Given the description of an element on the screen output the (x, y) to click on. 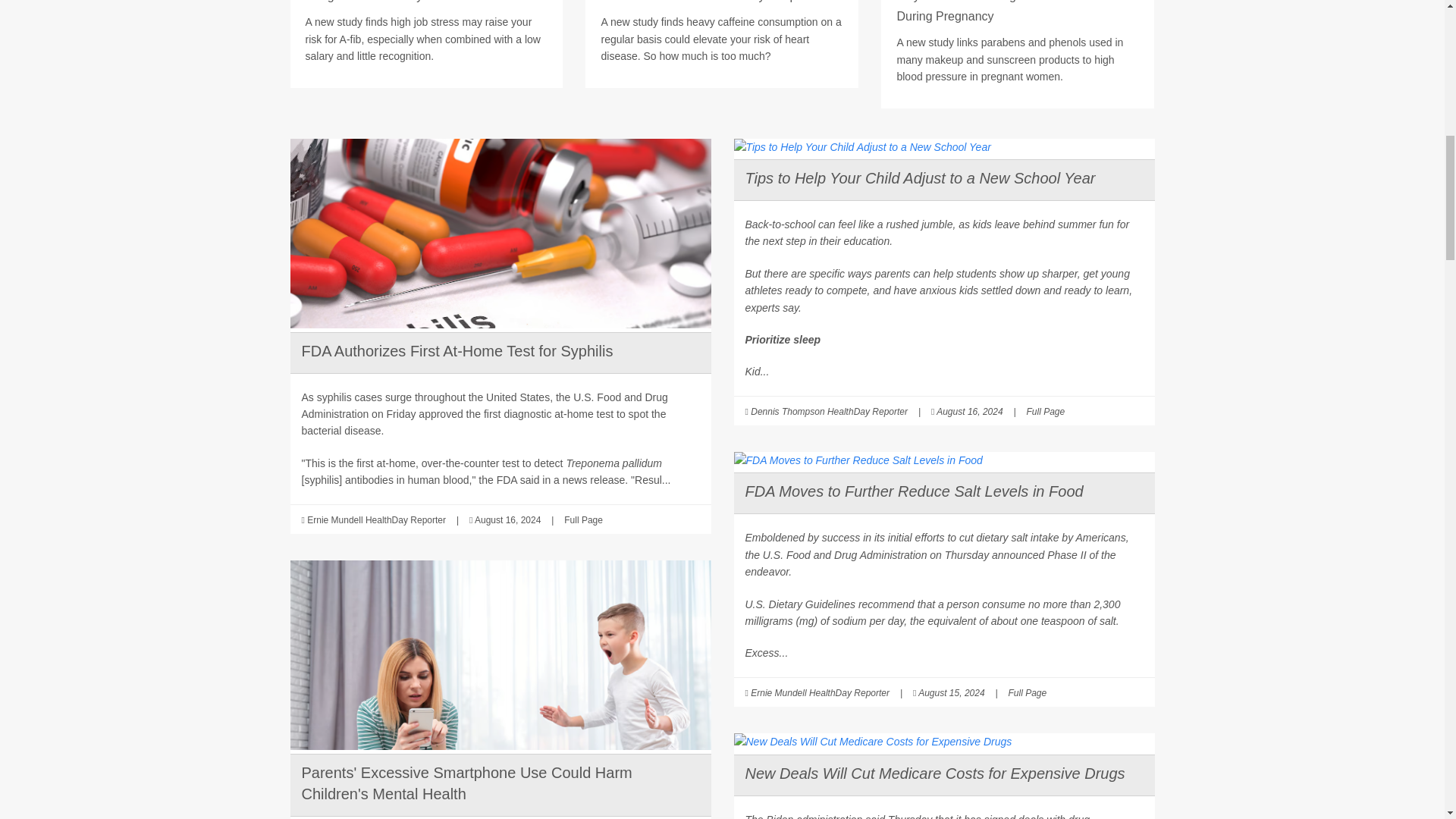
FDA Authorizes First At-Home Test for Syphilis (456, 351)
